Given the description of an element on the screen output the (x, y) to click on. 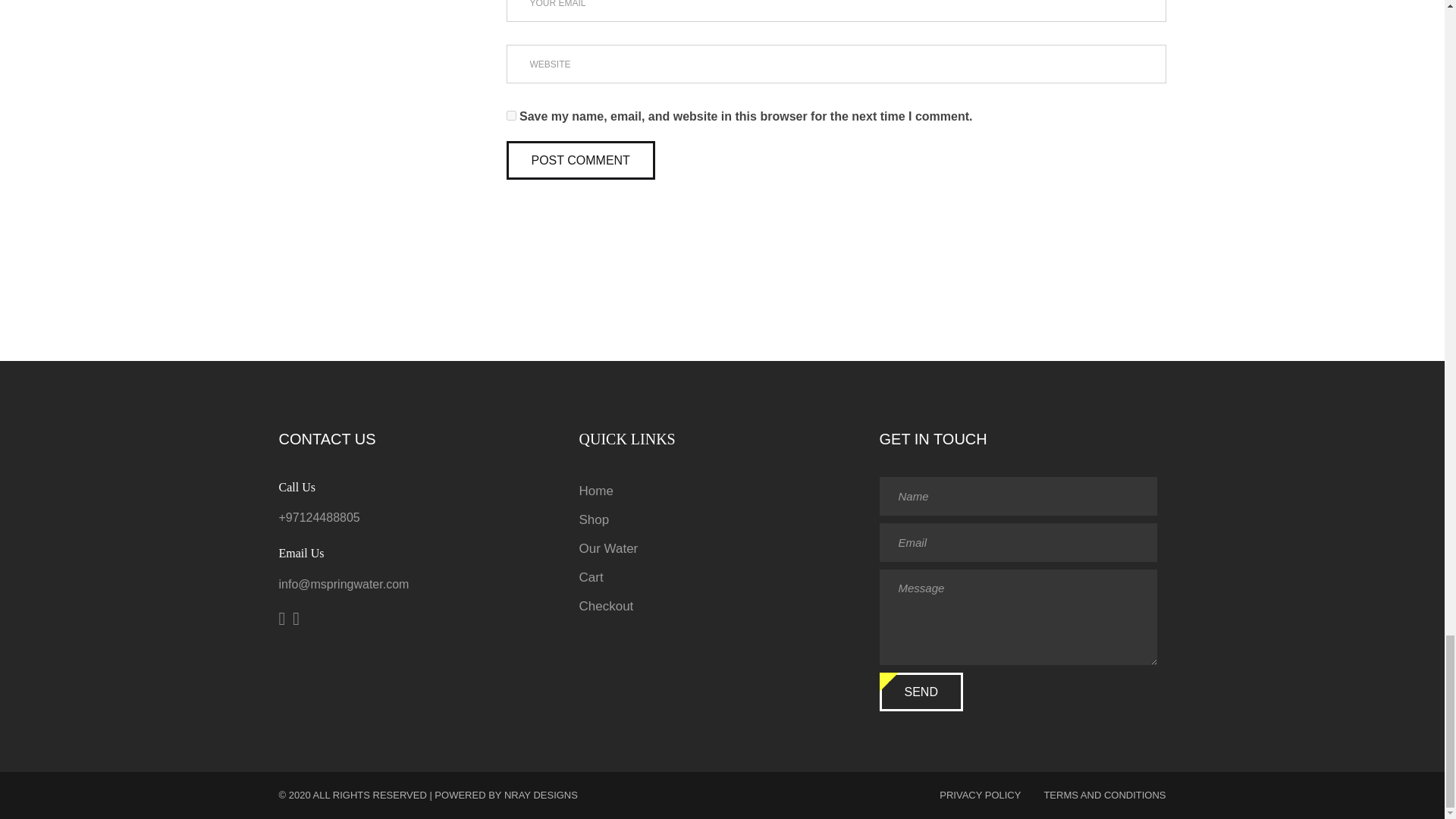
yes (511, 115)
Post Comment (580, 159)
Post Comment (580, 159)
Facebook (286, 619)
Instagram (299, 619)
